Given the description of an element on the screen output the (x, y) to click on. 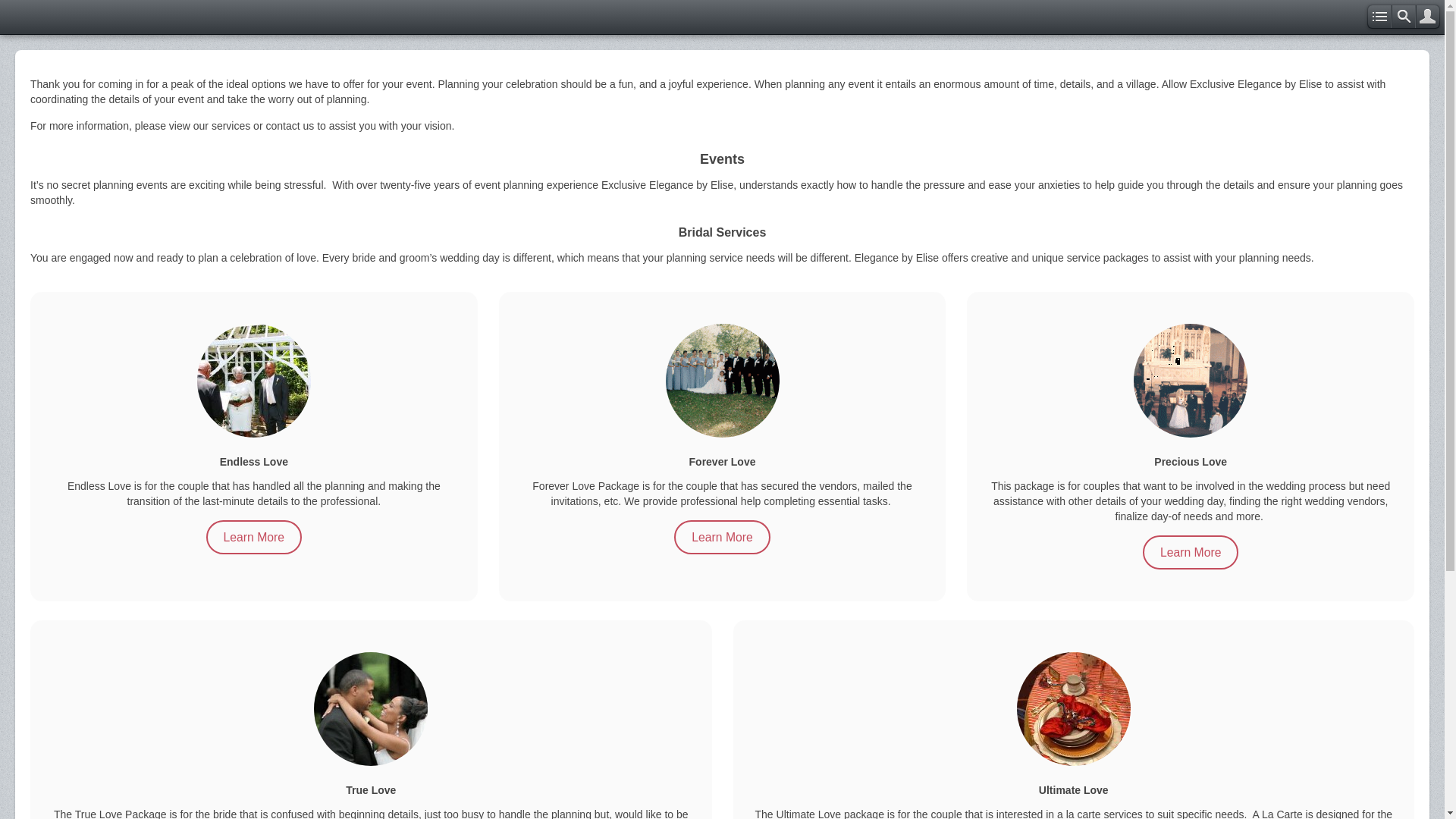
Learn More (722, 537)
Learn More (1190, 552)
Learn More (254, 537)
